Given the description of an element on the screen output the (x, y) to click on. 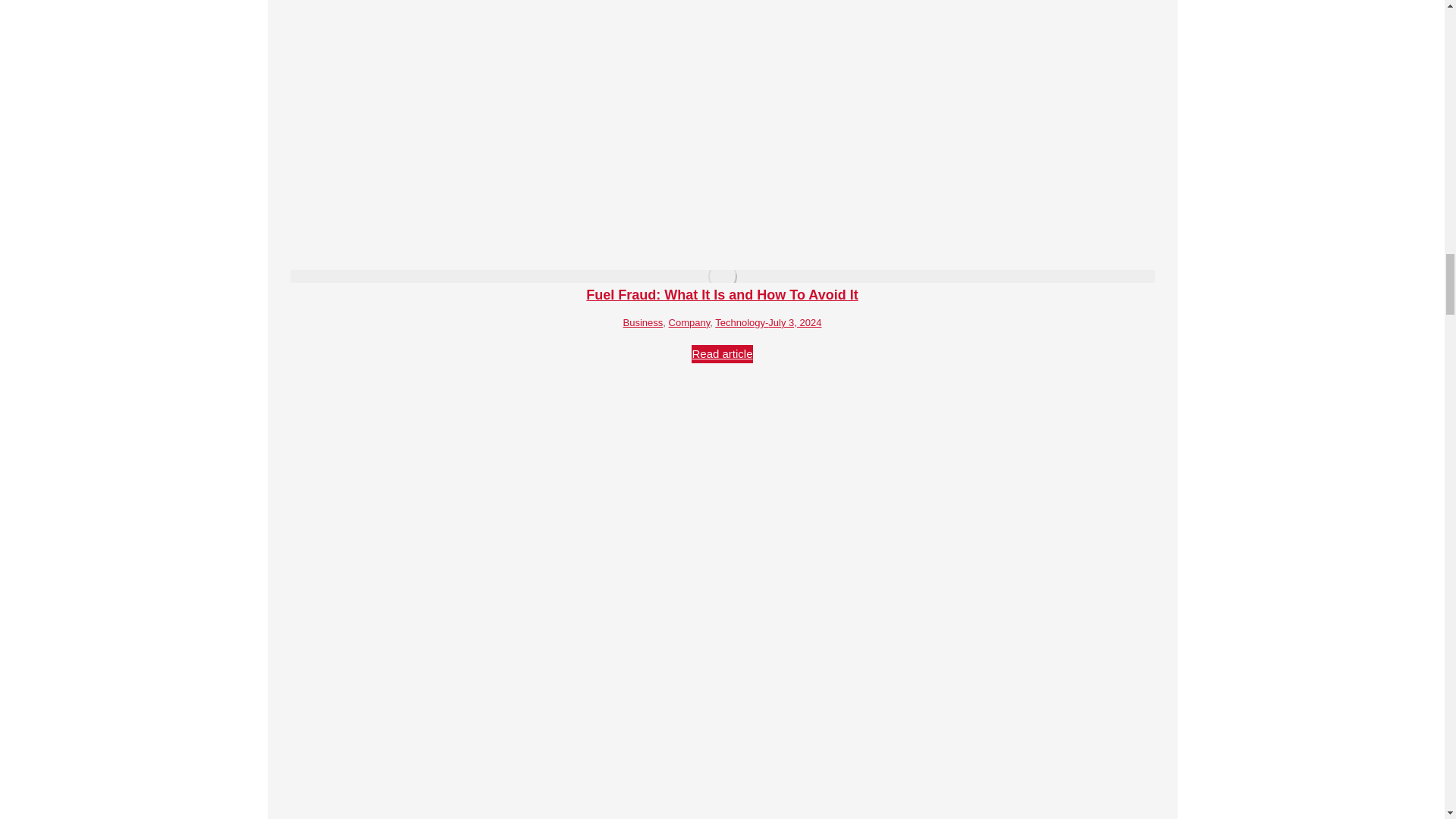
July 3, 2024 (793, 322)
Business (643, 322)
Fuel Fraud: What It Is and How To Avoid It (721, 294)
Company (689, 322)
Technology (739, 322)
2:39 pm (793, 322)
Fuel Fraud: What It Is and How To Avoid It (721, 294)
